Given the description of an element on the screen output the (x, y) to click on. 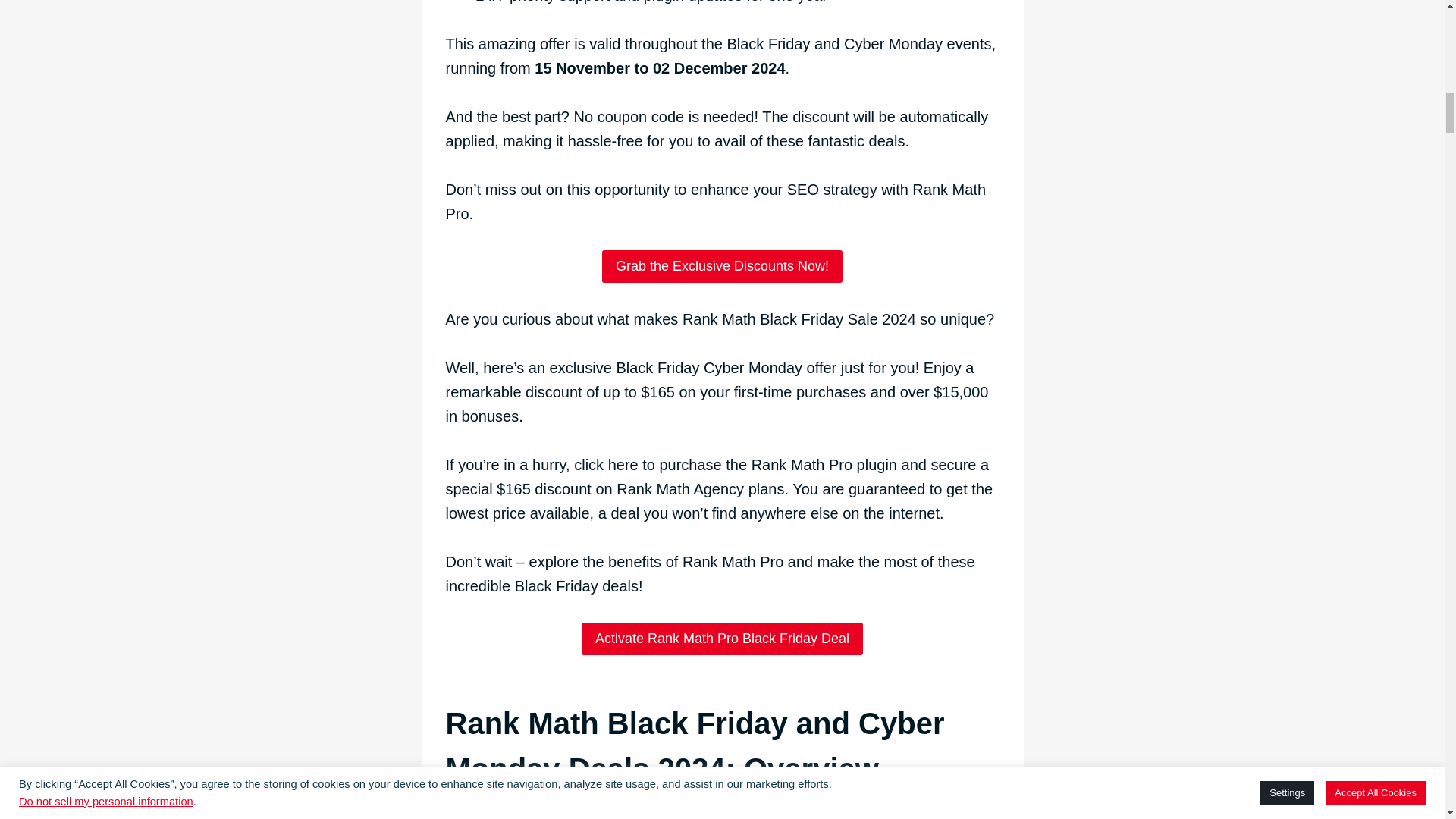
Activate Rank Math Pro Black Friday Deal (721, 638)
Grab the Exclusive Discounts Now! (722, 266)
